Given the description of an element on the screen output the (x, y) to click on. 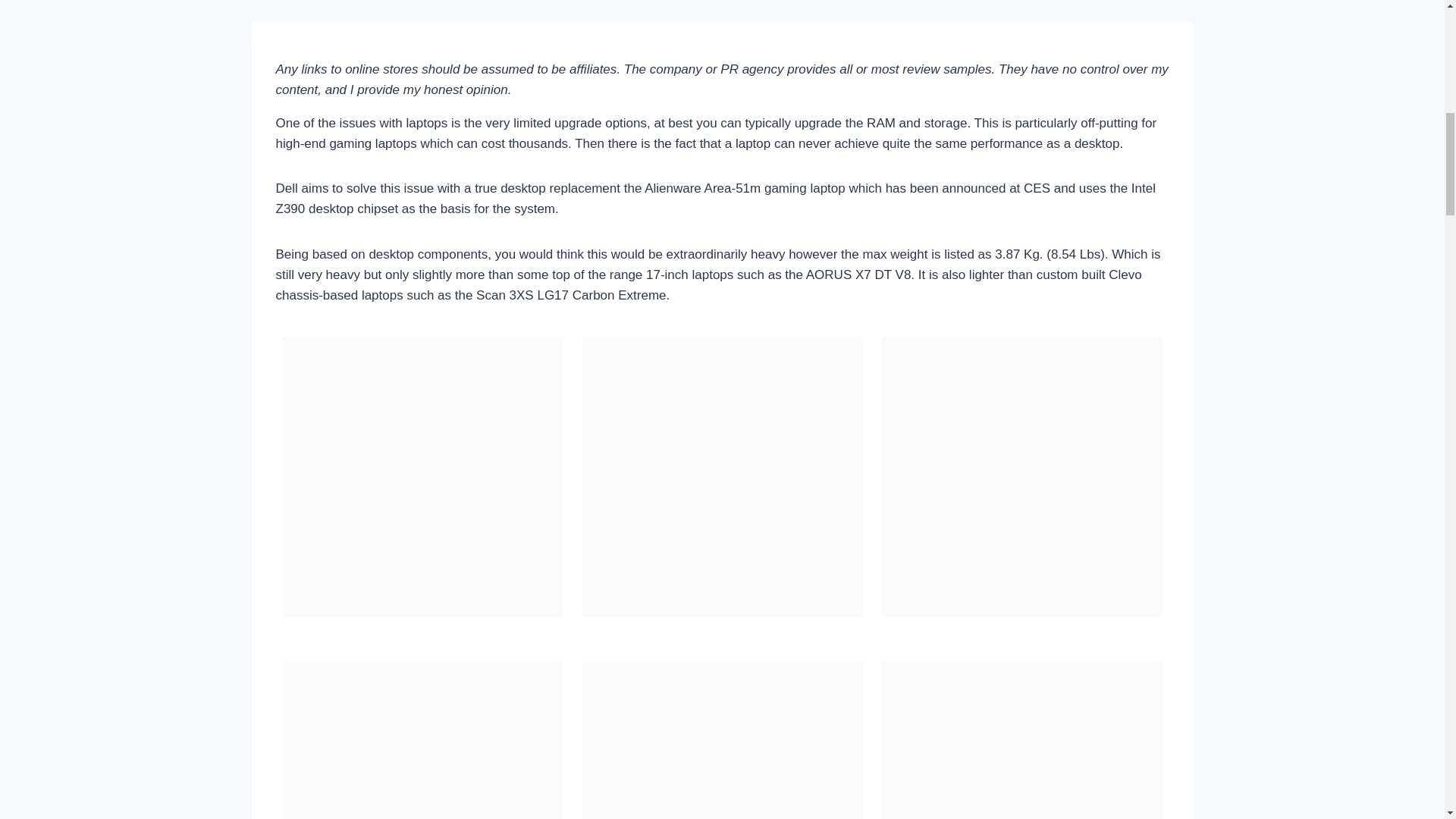
Alienware 17 Area 51m 6 (422, 739)
Alienware 17 Area 51m 3 (1021, 739)
Alienware 17 Area 51m 1 (1021, 476)
Alienware 17 Area 51m 8 (722, 11)
Alienware 17 Area 51m 2 (722, 476)
Alienware 17 Area 51m 5 (422, 476)
Alienware 17 Area 51m 4 (722, 739)
